Given the description of an element on the screen output the (x, y) to click on. 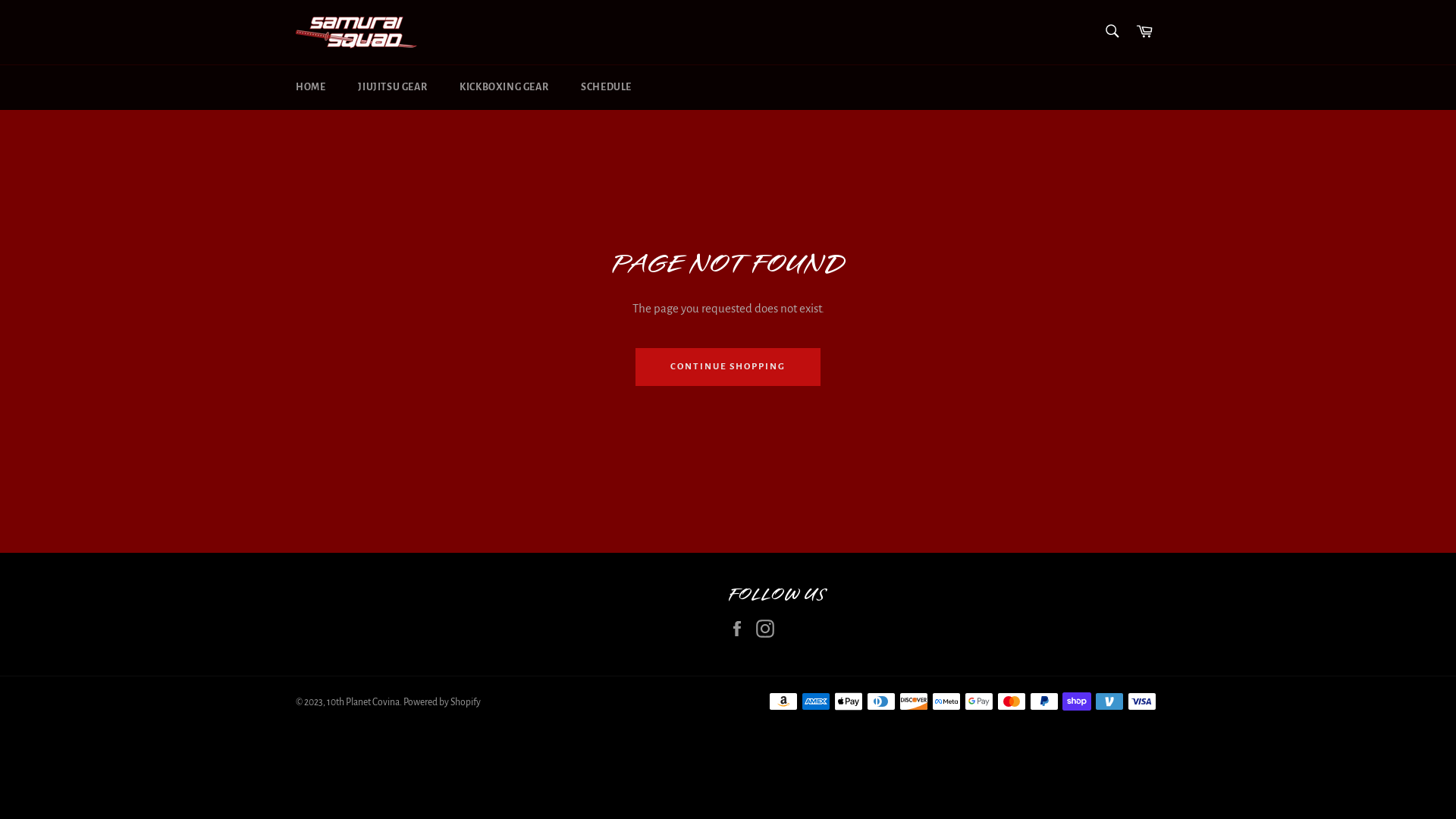
SCHEDULE Element type: text (605, 87)
JIUJITSU GEAR Element type: text (392, 87)
KICKBOXING GEAR Element type: text (503, 87)
CONTINUE SHOPPING Element type: text (727, 366)
HOME Element type: text (310, 87)
Search Element type: text (1111, 31)
Powered by Shopify Element type: text (441, 701)
Instagram Element type: text (768, 627)
10th Planet Covina Element type: text (362, 701)
Cart Element type: text (1144, 32)
Facebook Element type: text (740, 627)
